Given the description of an element on the screen output the (x, y) to click on. 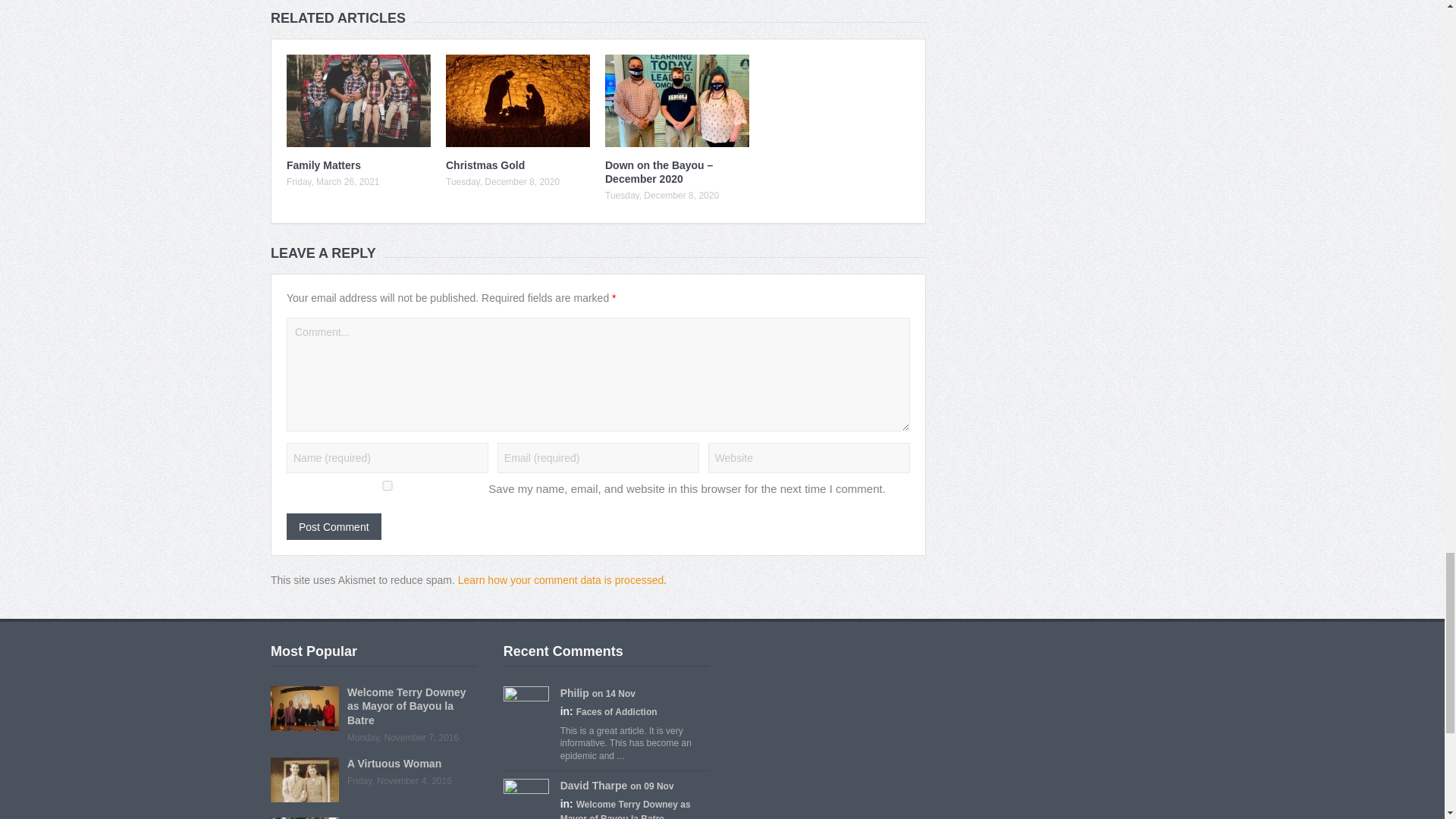
yes (386, 485)
Philip on Faces of Addiction (525, 708)
Post Comment (333, 526)
Philip on Faces of Addiction (574, 693)
